Given the description of an element on the screen output the (x, y) to click on. 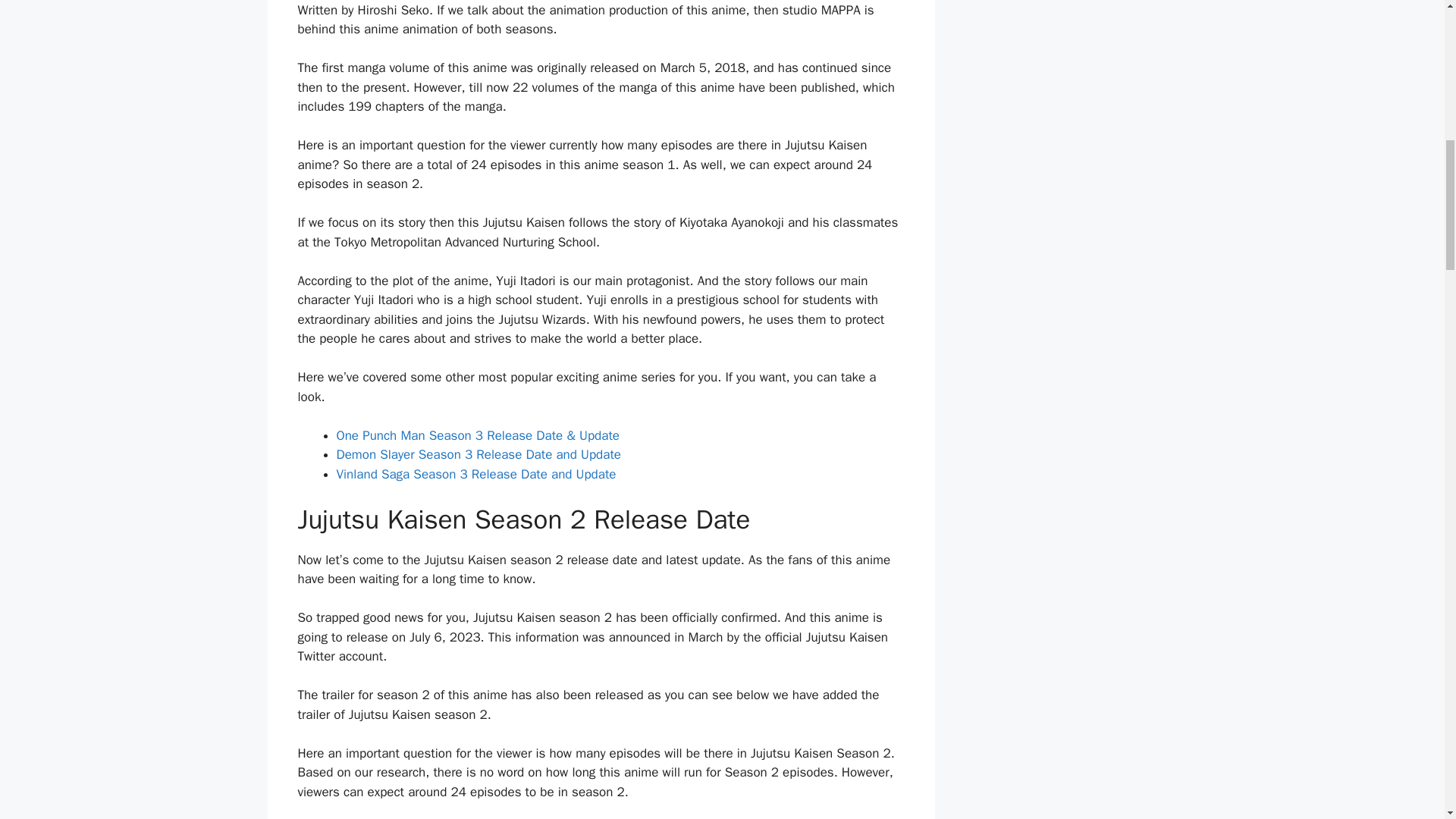
Vinland Saga Season 3 Release Date and Update (475, 474)
Demon Slayer Season 3 Release Date and Update (478, 454)
